Given the description of an element on the screen output the (x, y) to click on. 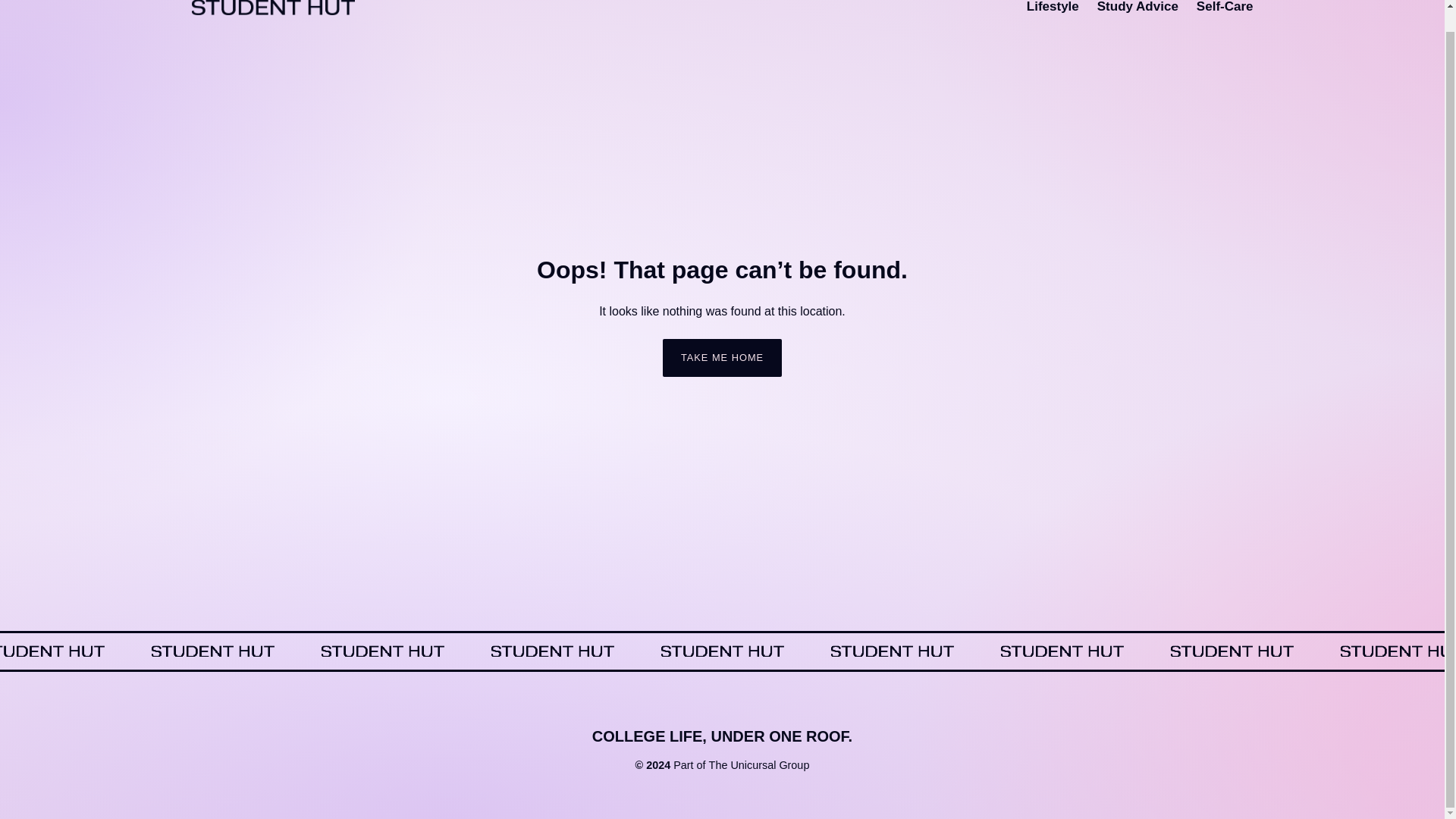
Self-Care (1224, 7)
TAKE ME HOME (721, 357)
Lifestyle (1052, 7)
The Unicursal Group (759, 766)
Study Advice (1137, 7)
